Given the description of an element on the screen output the (x, y) to click on. 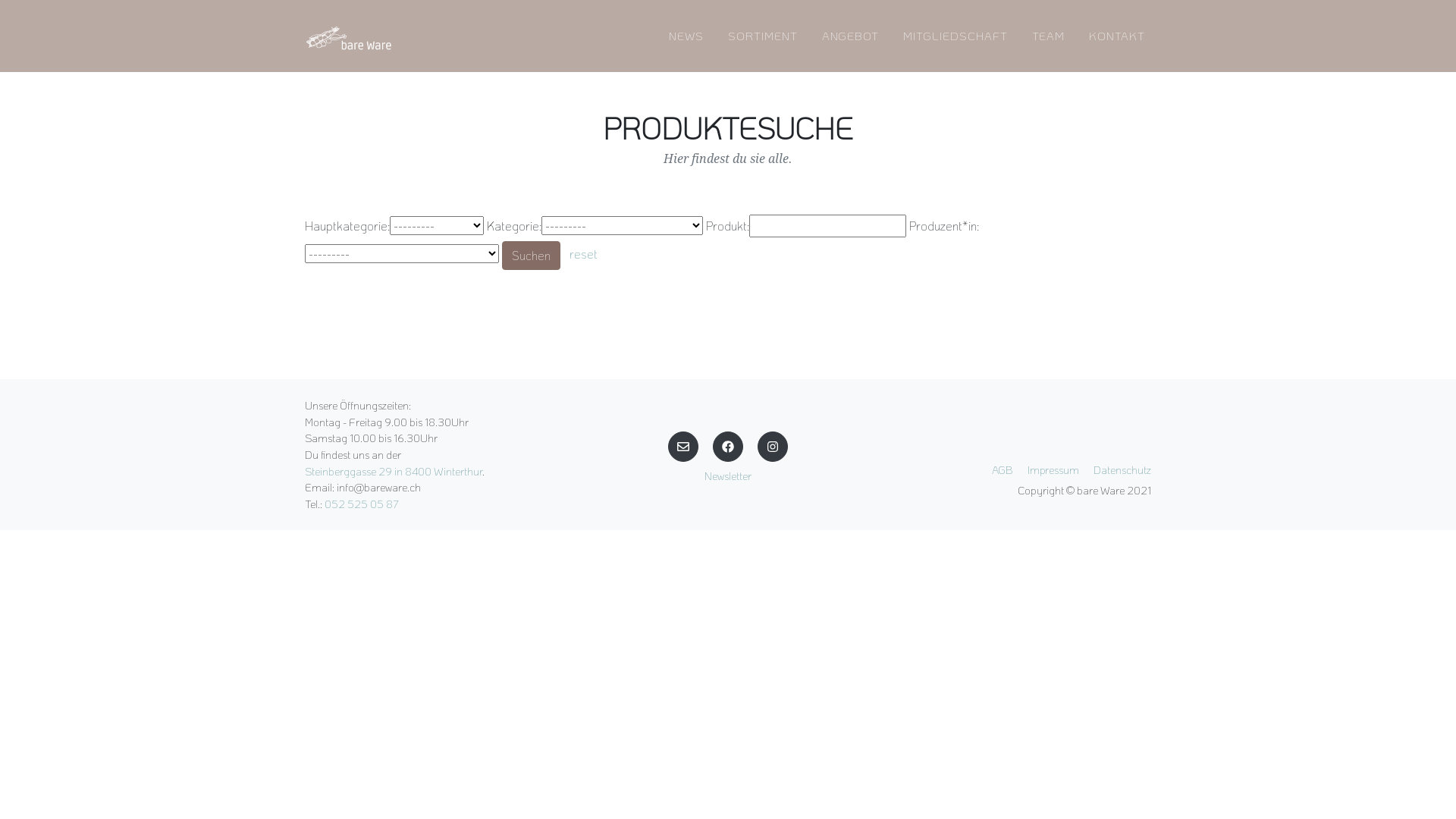
reset Element type: text (583, 253)
KONTAKT Element type: text (1116, 35)
052 525 05 87 Element type: text (361, 503)
Impressum Element type: text (1053, 469)
SORTIMENT Element type: text (762, 35)
MITGLIEDSCHAFT Element type: text (955, 35)
AGB Element type: text (1002, 469)
Datenschutz Element type: text (1122, 469)
TEAM Element type: text (1048, 35)
ANGEBOT Element type: text (850, 35)
Newsletter Element type: text (727, 475)
Suchen Element type: text (531, 255)
Steinberggasse 29 in 8400 Winterthur Element type: text (393, 471)
NEWS Element type: text (685, 35)
